Given the description of an element on the screen output the (x, y) to click on. 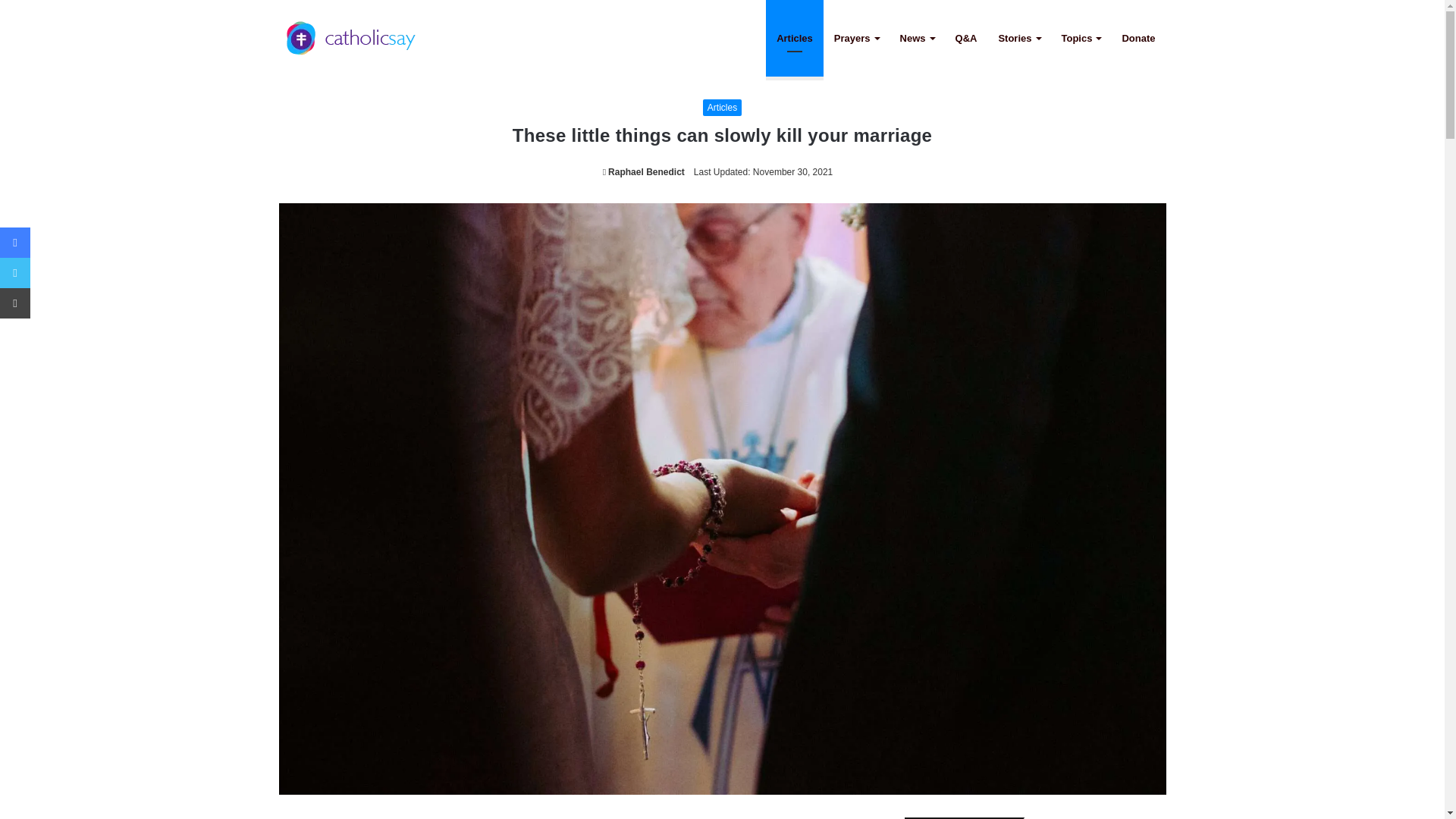
Articles (722, 107)
Facebook (15, 242)
Print (15, 303)
Catholic Say (351, 38)
Twitter (15, 272)
Raphael Benedict (643, 172)
Raphael Benedict (643, 172)
